Given the description of an element on the screen output the (x, y) to click on. 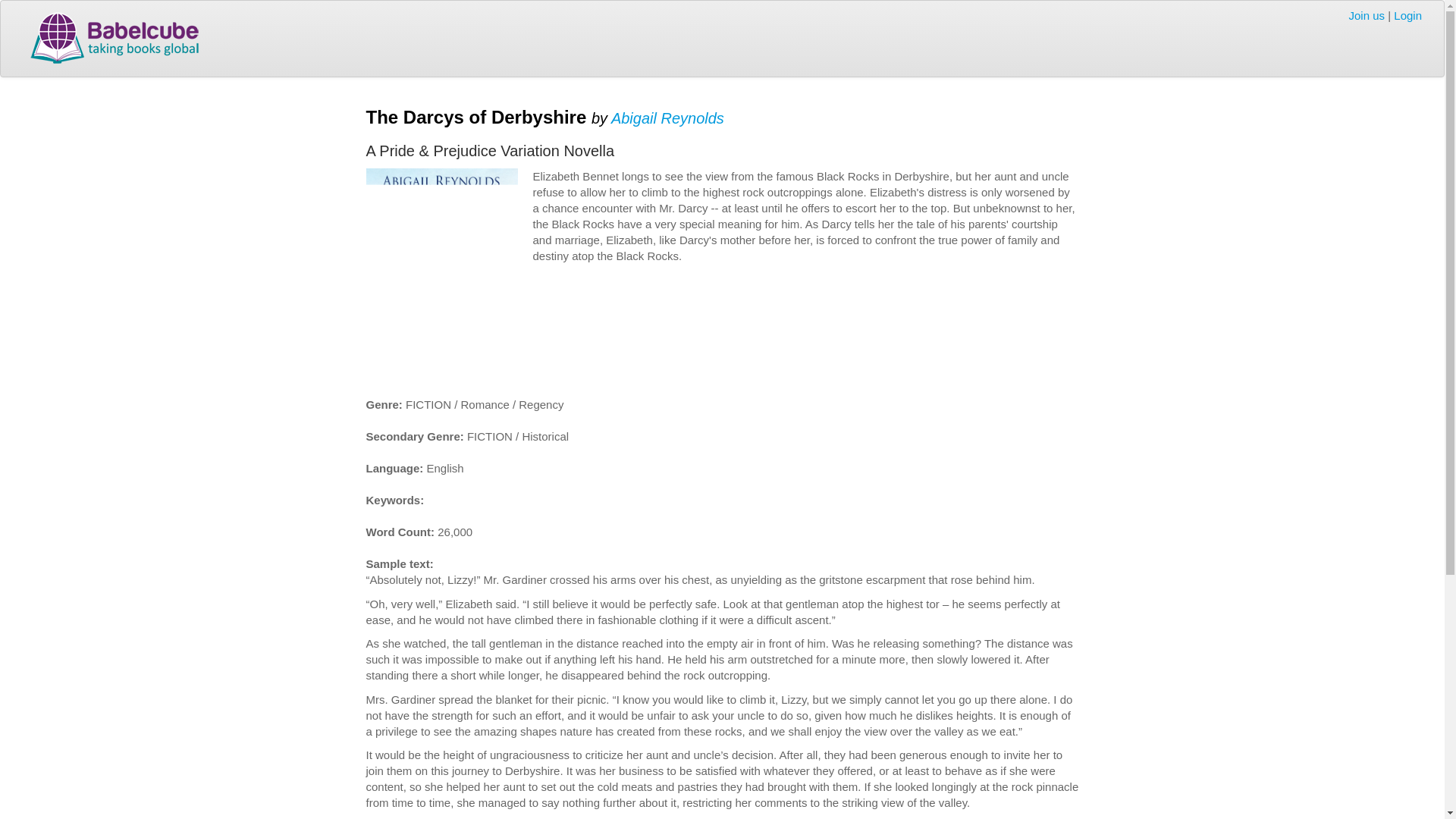
Join us (1367, 15)
Login (1407, 15)
Abigail Reynolds (667, 117)
